Given the description of an element on the screen output the (x, y) to click on. 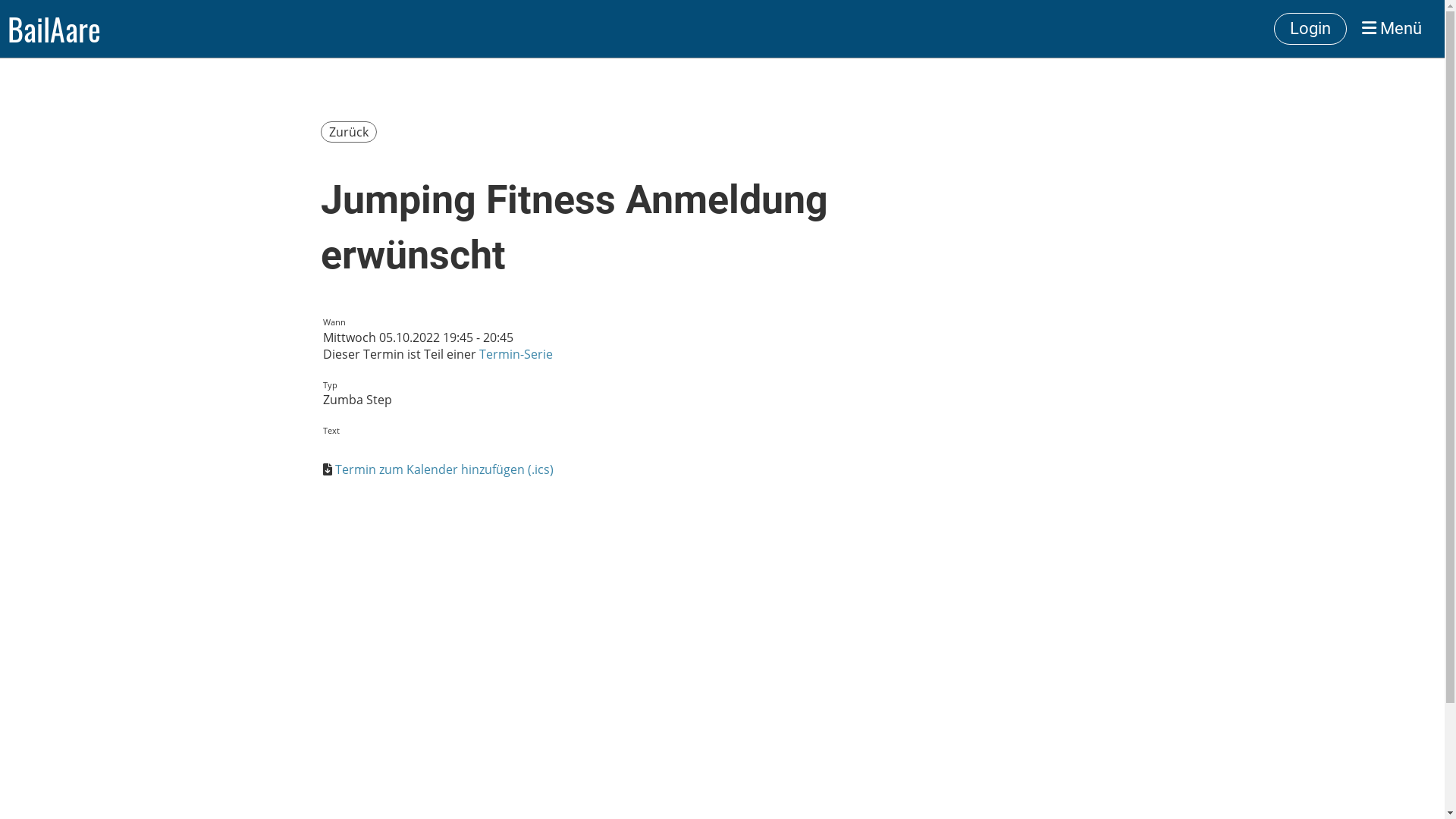
Termin-Serie Element type: text (515, 353)
BailAare Element type: text (53, 28)
Login Element type: text (1310, 28)
